Given the description of an element on the screen output the (x, y) to click on. 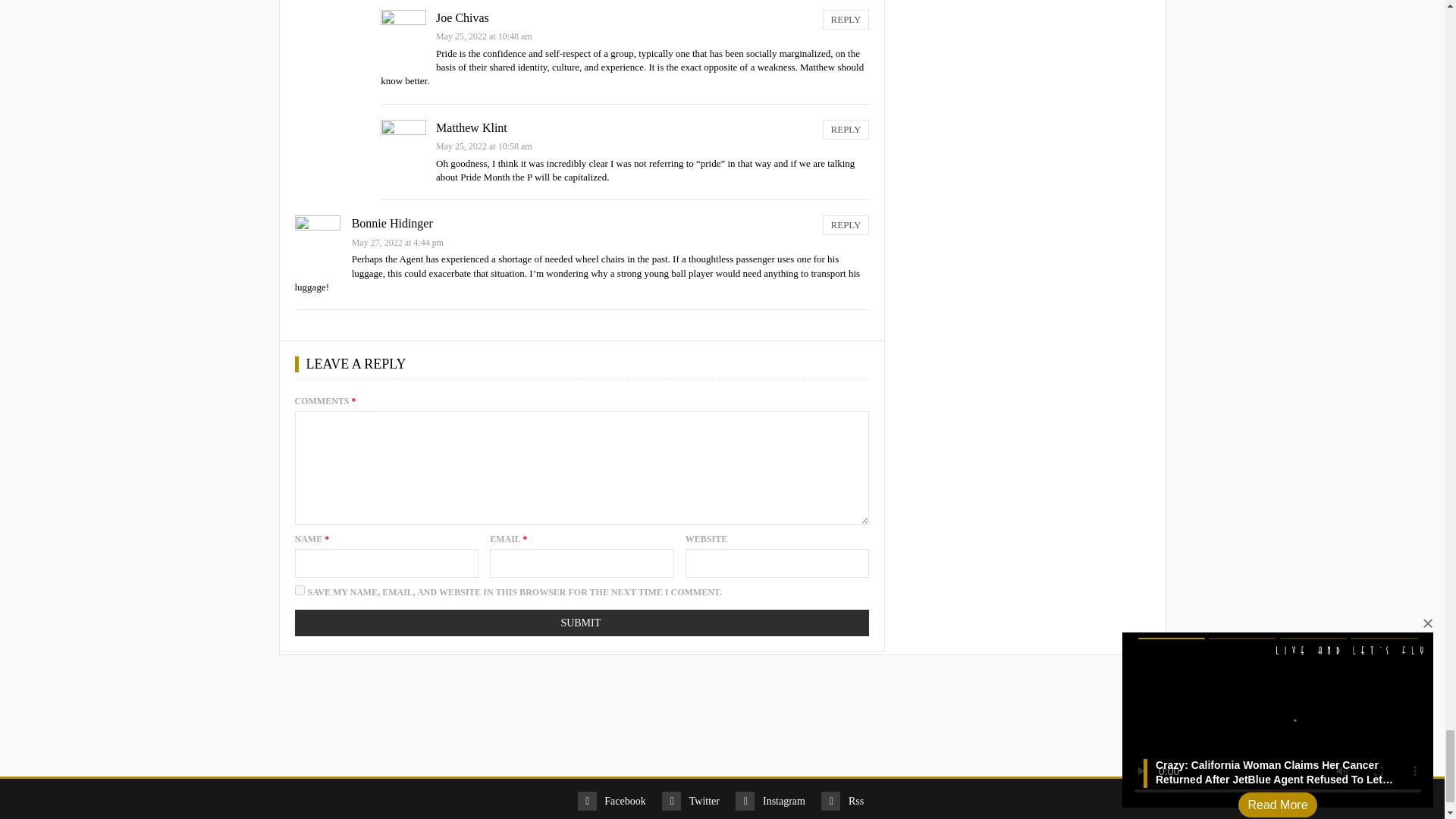
yes (299, 590)
Submit  (581, 622)
